Given the description of an element on the screen output the (x, y) to click on. 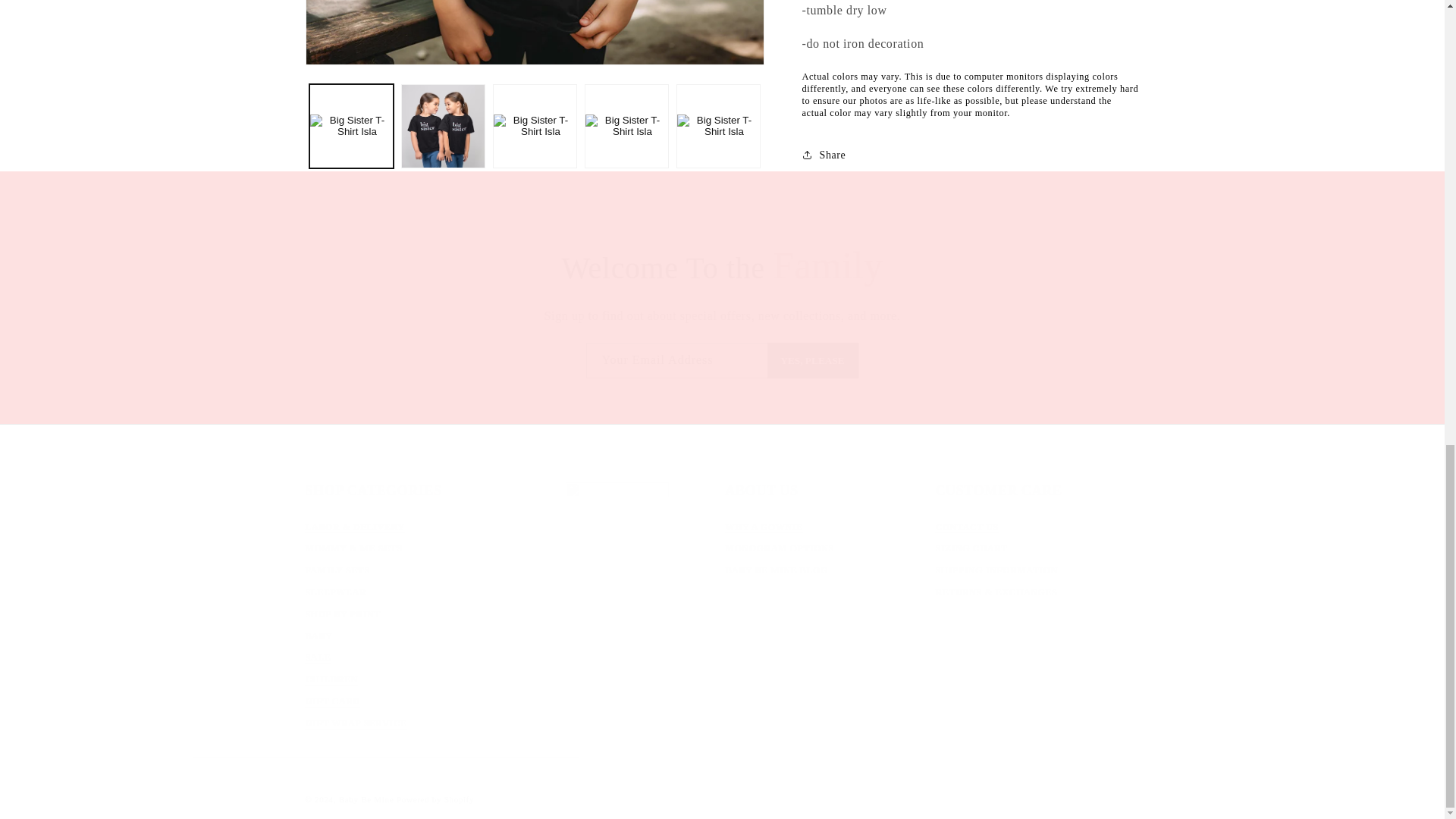
Welcome To the Family (722, 360)
